Given the description of an element on the screen output the (x, y) to click on. 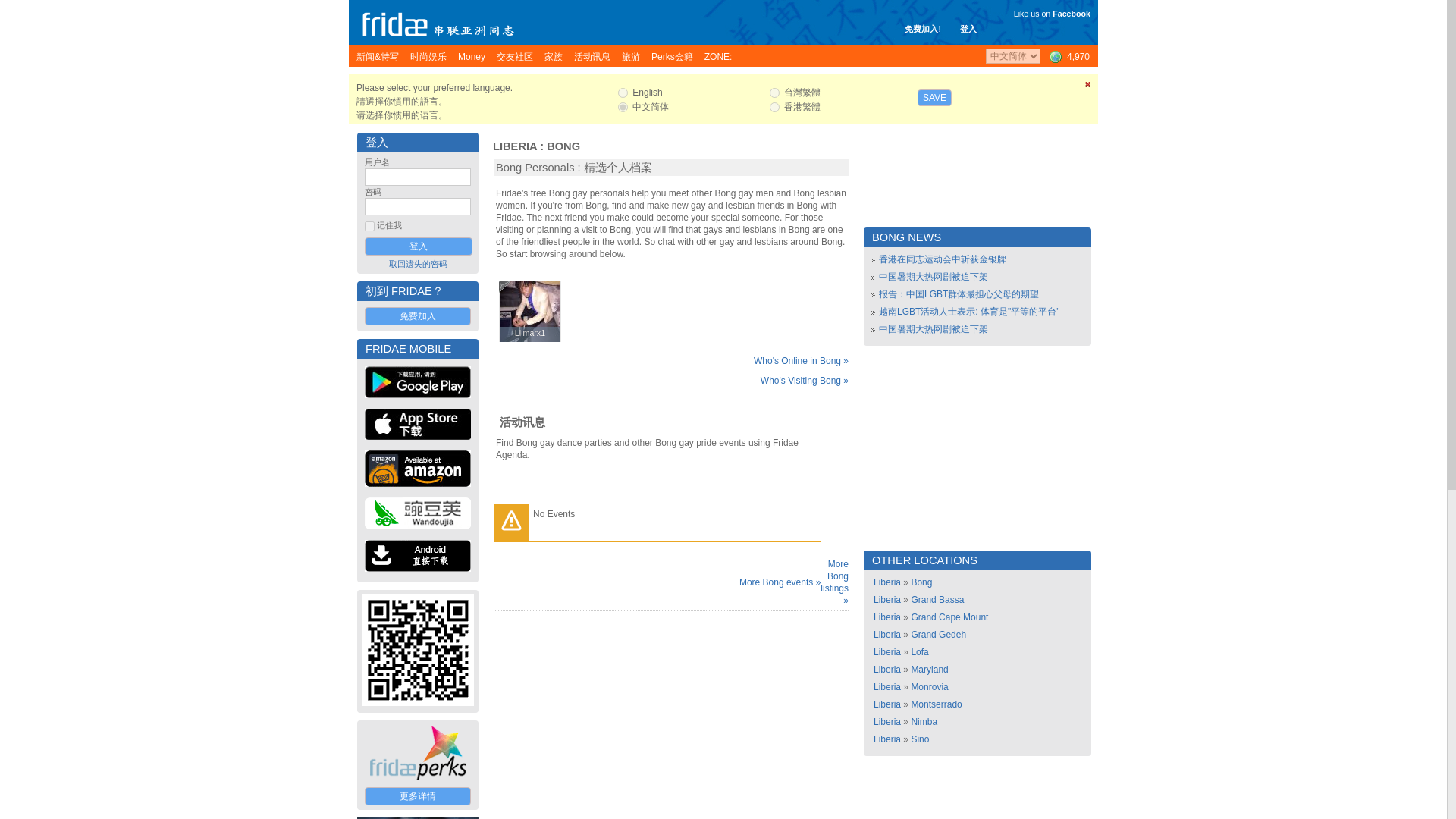
Money (471, 55)
Offline (505, 286)
Worldwide (1068, 56)
1 (369, 225)
en (622, 92)
hk (774, 107)
SAVE (934, 97)
ZONE: (718, 55)
Close this panel (1087, 86)
Facebook (1071, 13)
sc (622, 107)
tc (774, 92)
4,970 (1068, 56)
